Given the description of an element on the screen output the (x, y) to click on. 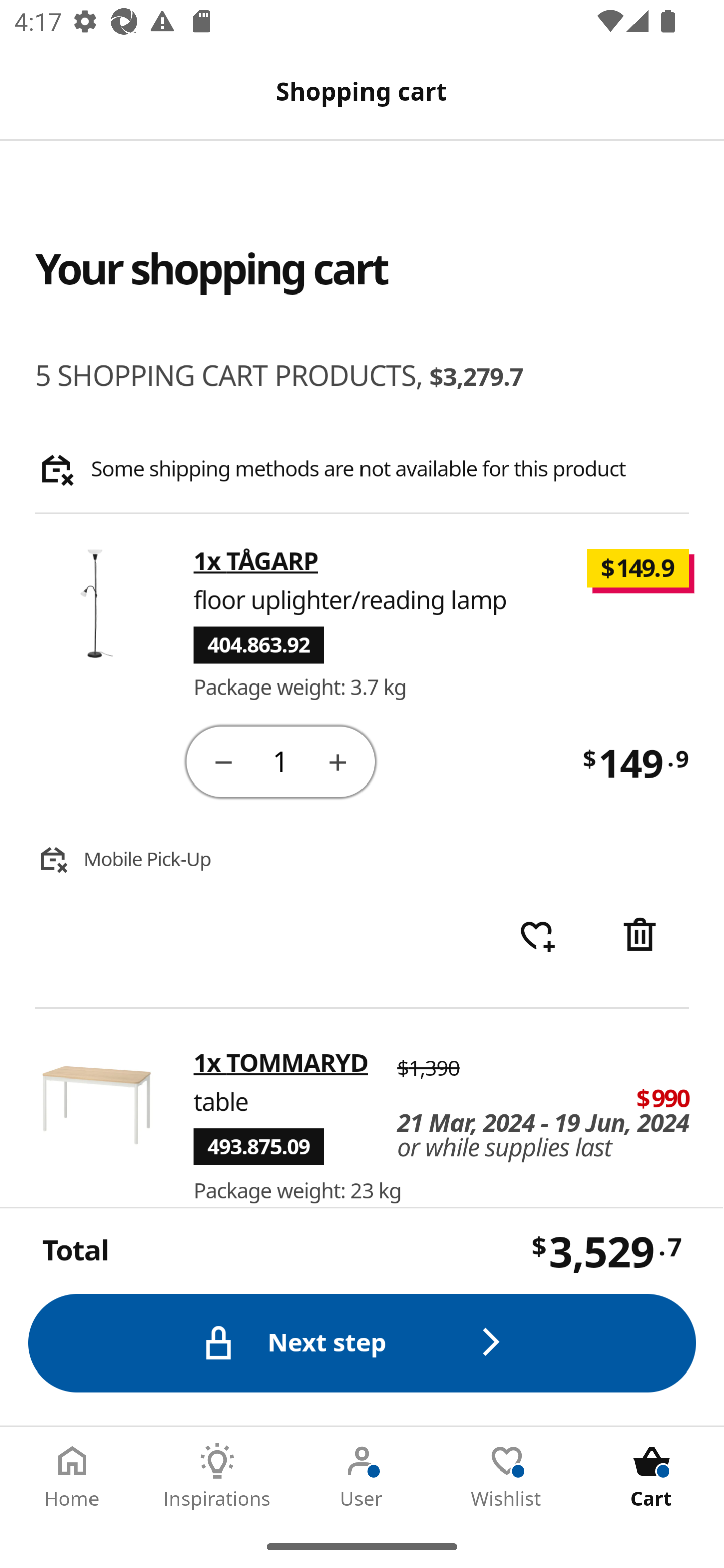
1x  TÅGARP 1x  TÅGARP (256, 561)
1 (281, 760)
 (223, 761)
 (338, 761)
  (536, 935)
 (641, 935)
1x  TOMMARYD 1x  TOMMARYD (281, 1062)
Home
Tab 1 of 5 (72, 1476)
Inspirations
Tab 2 of 5 (216, 1476)
User
Tab 3 of 5 (361, 1476)
Wishlist
Tab 4 of 5 (506, 1476)
Cart
Tab 5 of 5 (651, 1476)
